Given the description of an element on the screen output the (x, y) to click on. 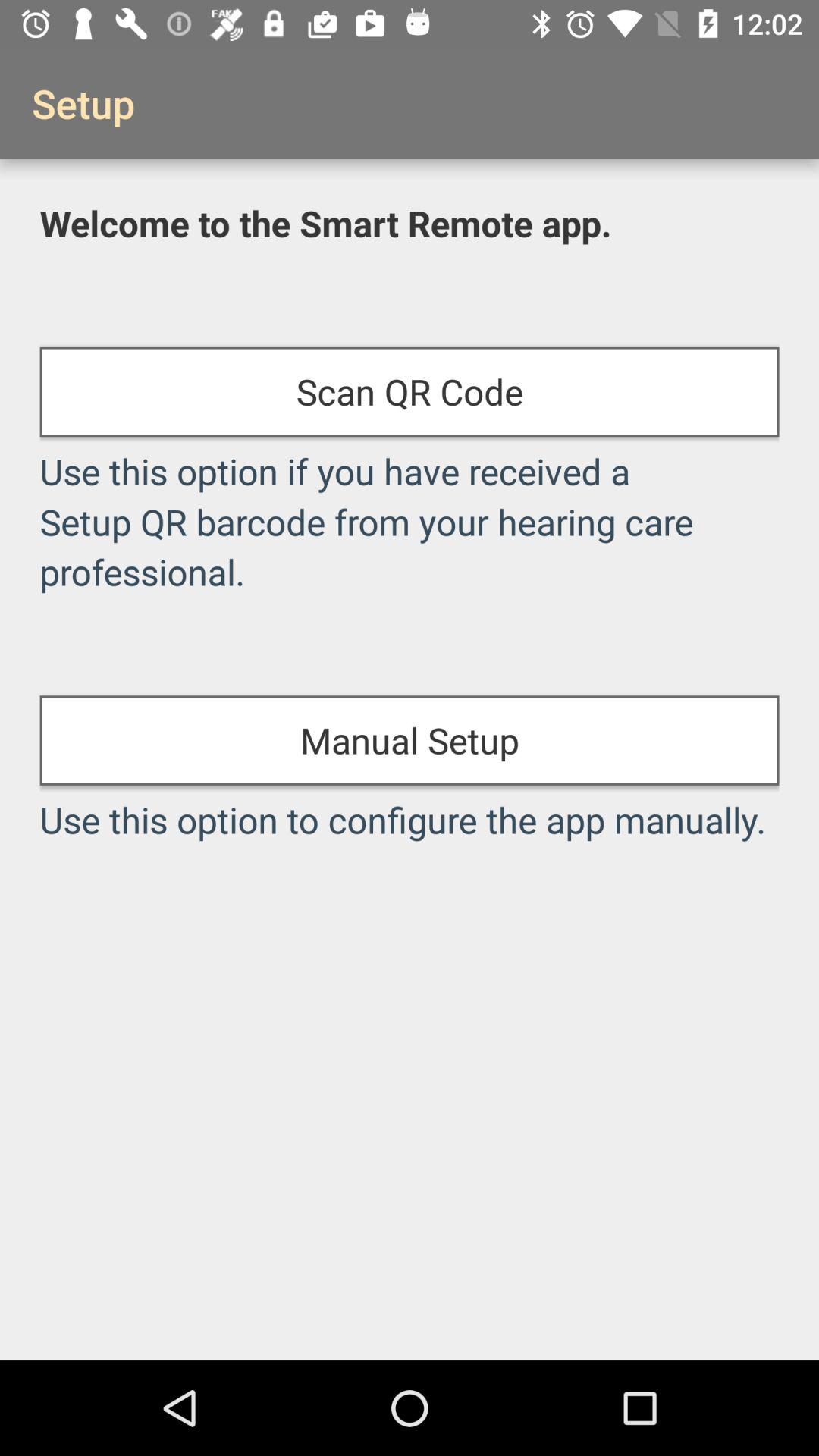
open scan qr code (409, 391)
